Given the description of an element on the screen output the (x, y) to click on. 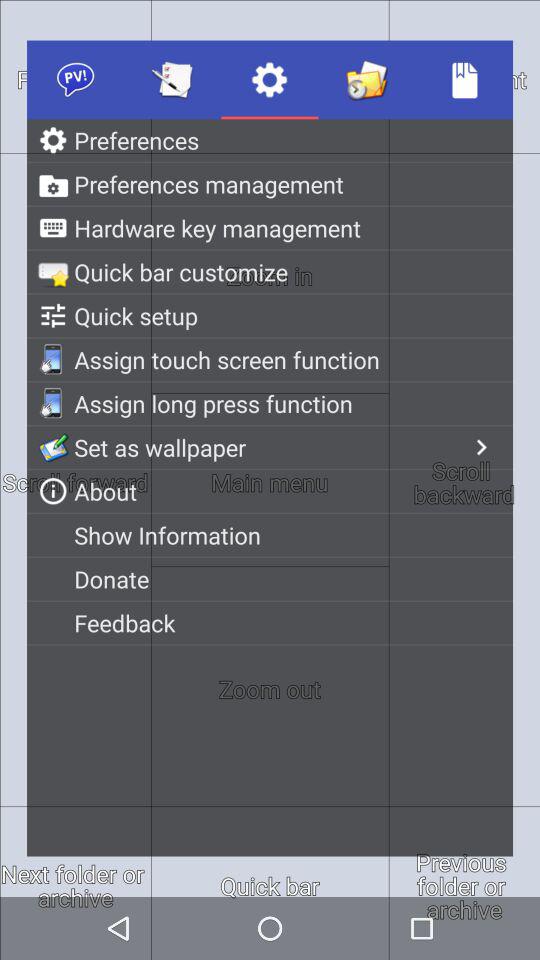
click on the icon beside the text about (53, 491)
click on icon on the right side of set as wallpaper (481, 447)
